Given the description of an element on the screen output the (x, y) to click on. 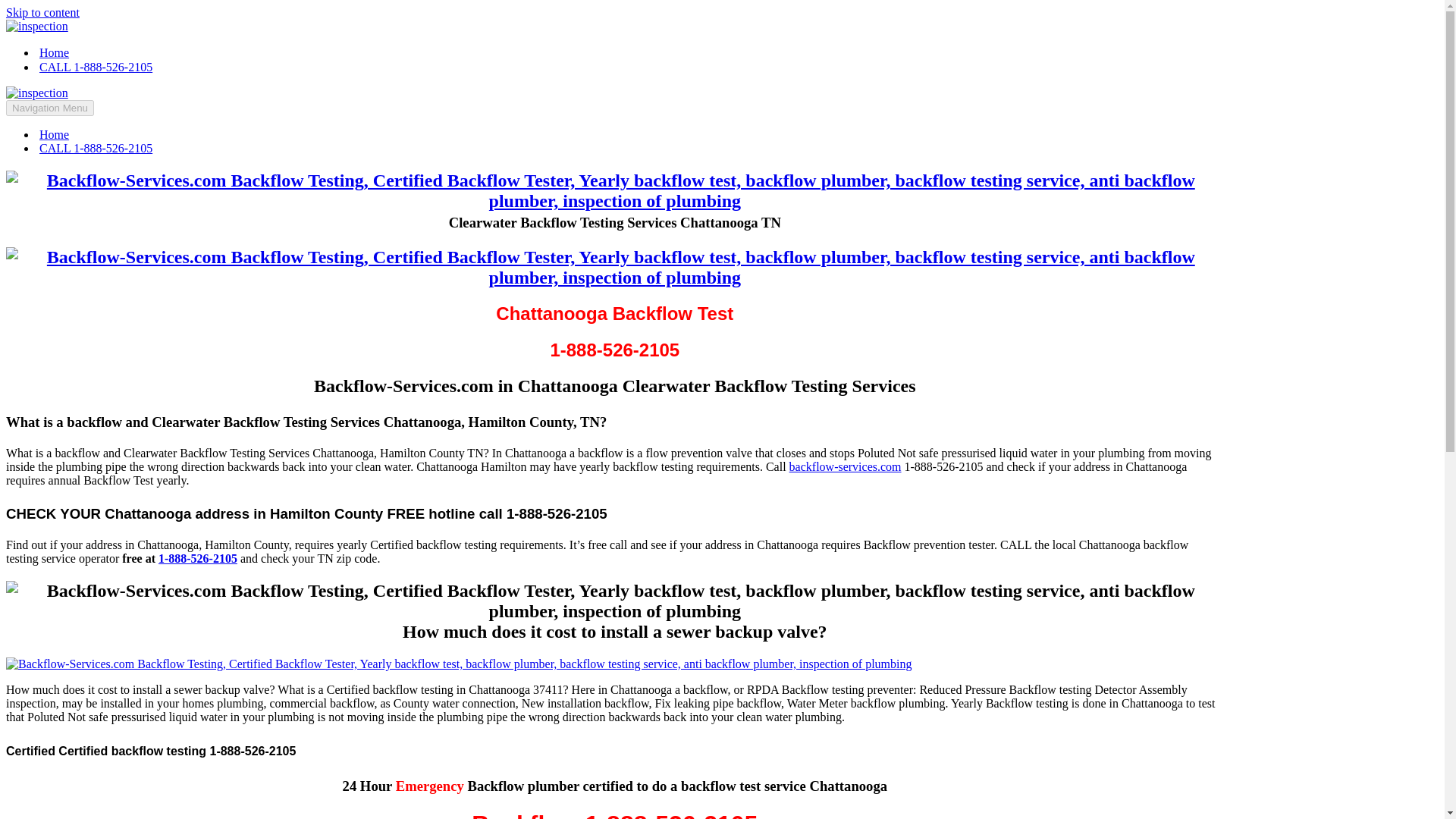
CALL 1-888-526-2105 (95, 66)
CALL 1-888-526-2105 (95, 148)
backflow-services.com (845, 466)
1-888-526-2105 (197, 558)
Home (53, 52)
Skip to content (42, 11)
Home (53, 134)
Navigation Menu (49, 107)
